Given the description of an element on the screen output the (x, y) to click on. 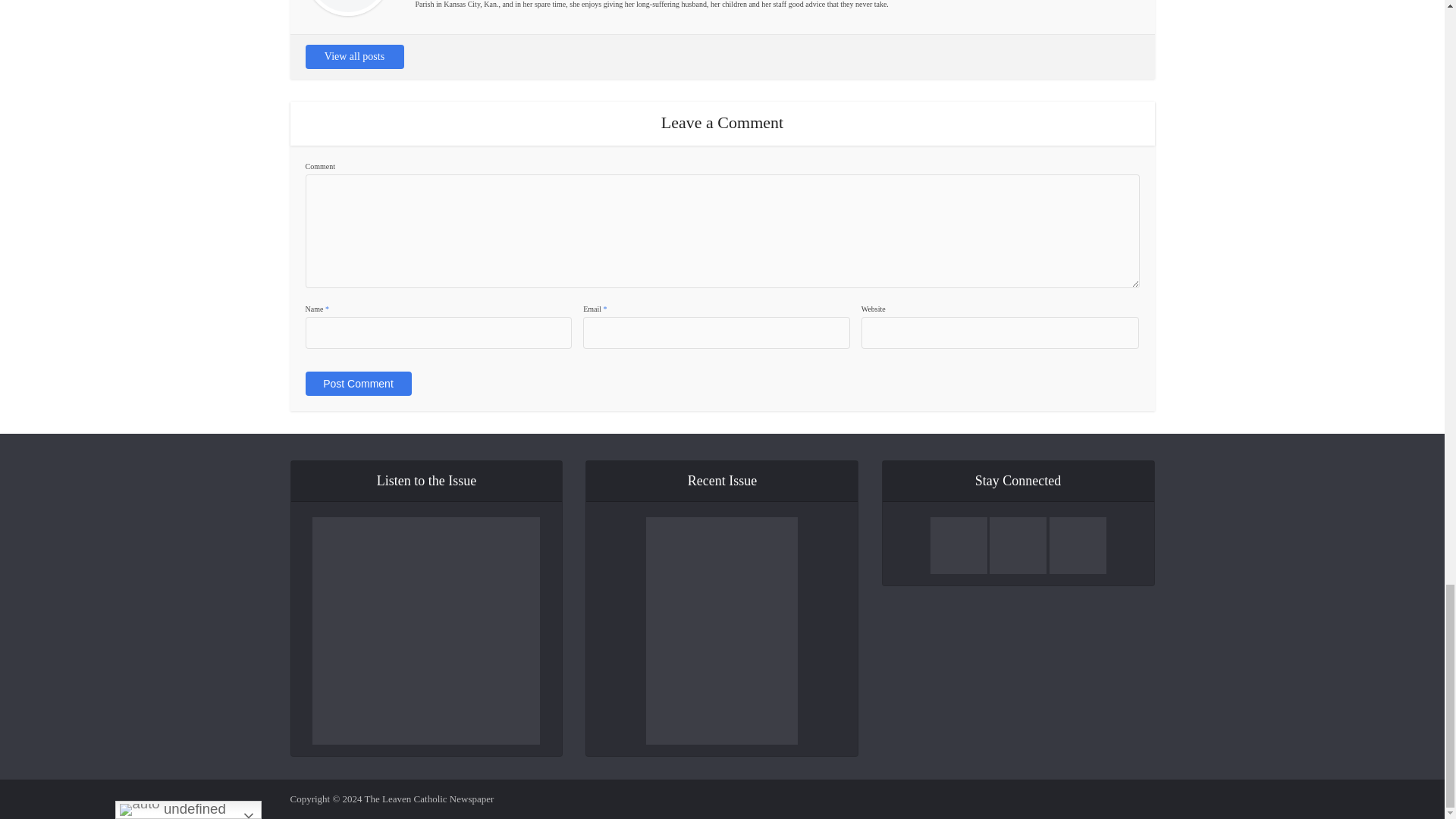
Post Comment (357, 383)
